Given the description of an element on the screen output the (x, y) to click on. 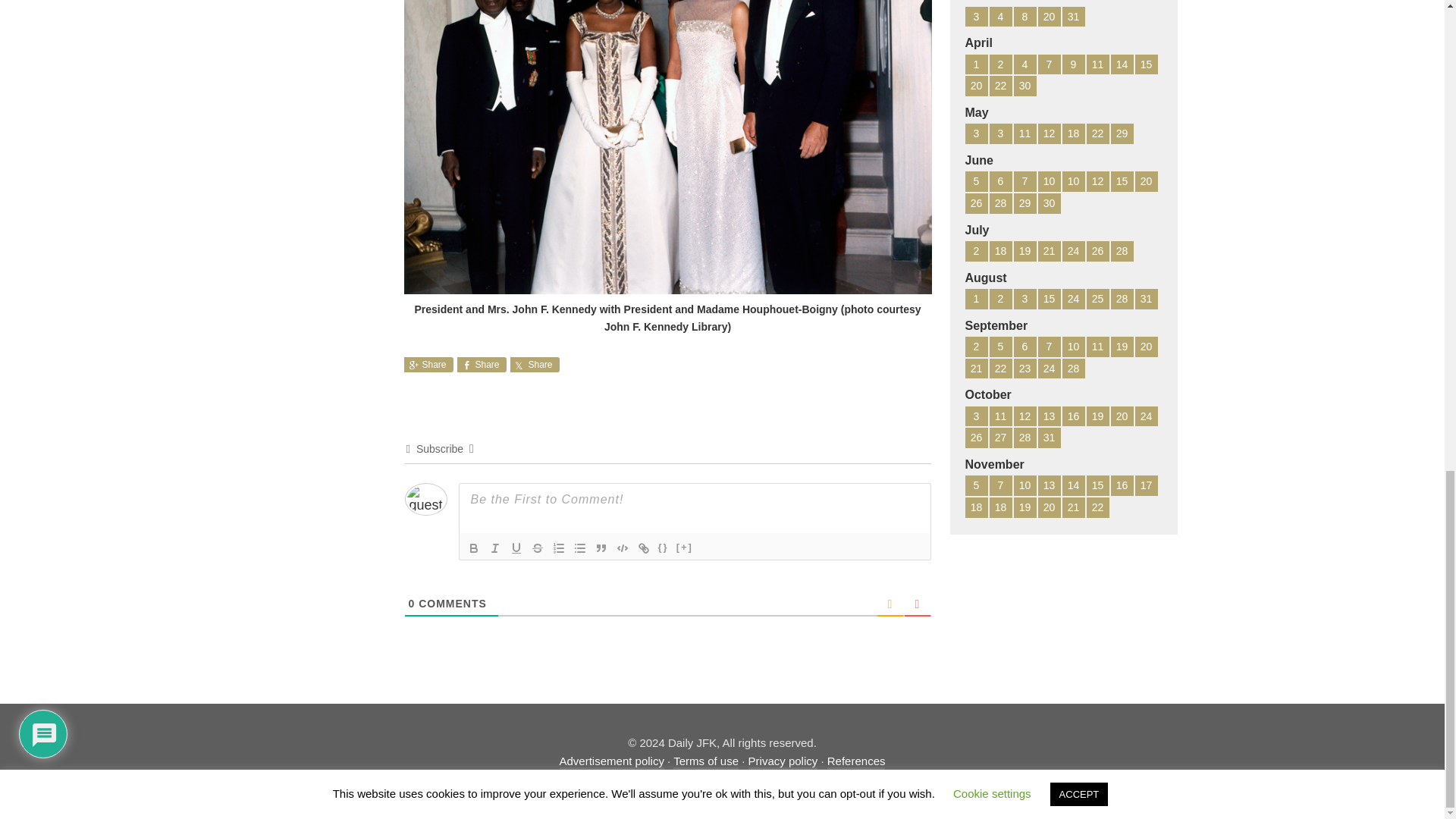
Spoiler (684, 547)
Bold (473, 547)
Share (481, 364)
Blockquote (600, 547)
Source Code (662, 547)
Strike (536, 547)
bullet (579, 547)
Code Block (621, 547)
Share (534, 364)
Italic (494, 547)
Unordered List (579, 547)
ordered (558, 547)
Underline (515, 547)
Link (642, 547)
